Given the description of an element on the screen output the (x, y) to click on. 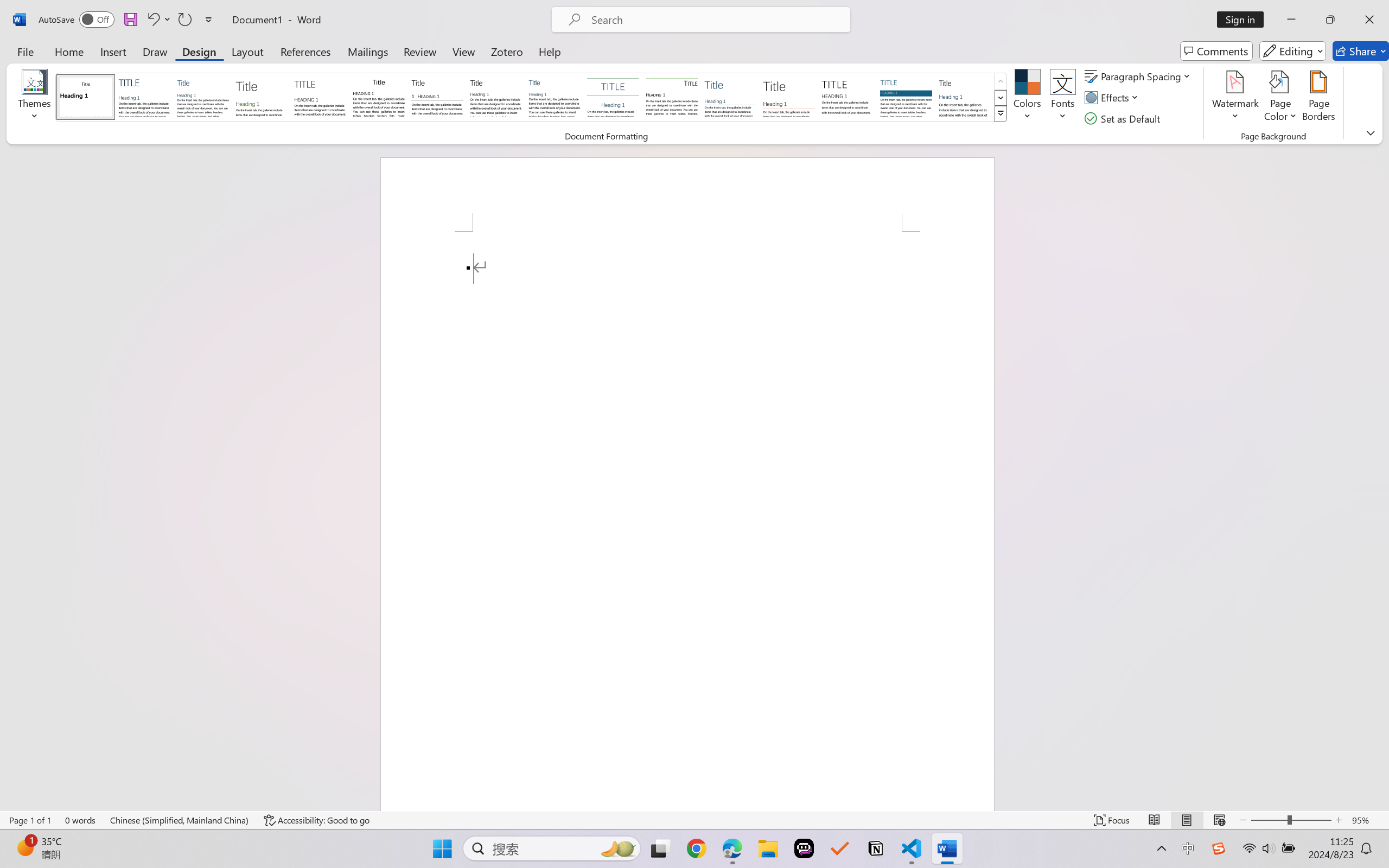
Page Borders... (1318, 97)
Casual (554, 96)
AutomationID: QuickStylesSets (531, 97)
Language Chinese (Simplified, Mainland China) (179, 819)
